Given the description of an element on the screen output the (x, y) to click on. 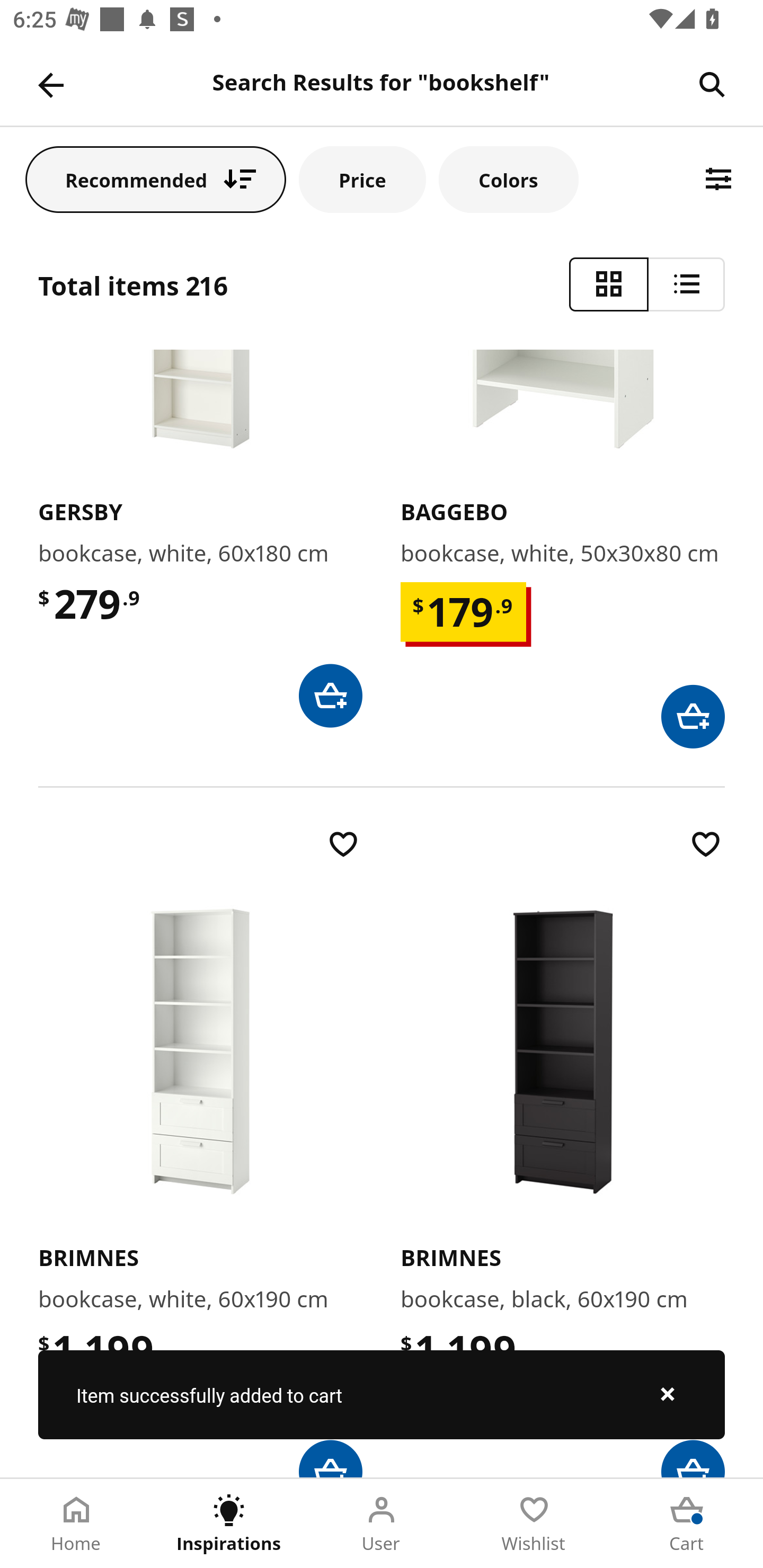
Recommended (155, 179)
Price (362, 179)
Colors (508, 179)
​G​E​R​S​B​Y​
bookcase, white, 60x180 cm
$
279
.9 (200, 538)
Item successfully added to cart (381, 1394)
Home
Tab 1 of 5 (76, 1522)
Inspirations
Tab 2 of 5 (228, 1522)
User
Tab 3 of 5 (381, 1522)
Wishlist
Tab 4 of 5 (533, 1522)
Cart
Tab 5 of 5 (686, 1522)
